Given the description of an element on the screen output the (x, y) to click on. 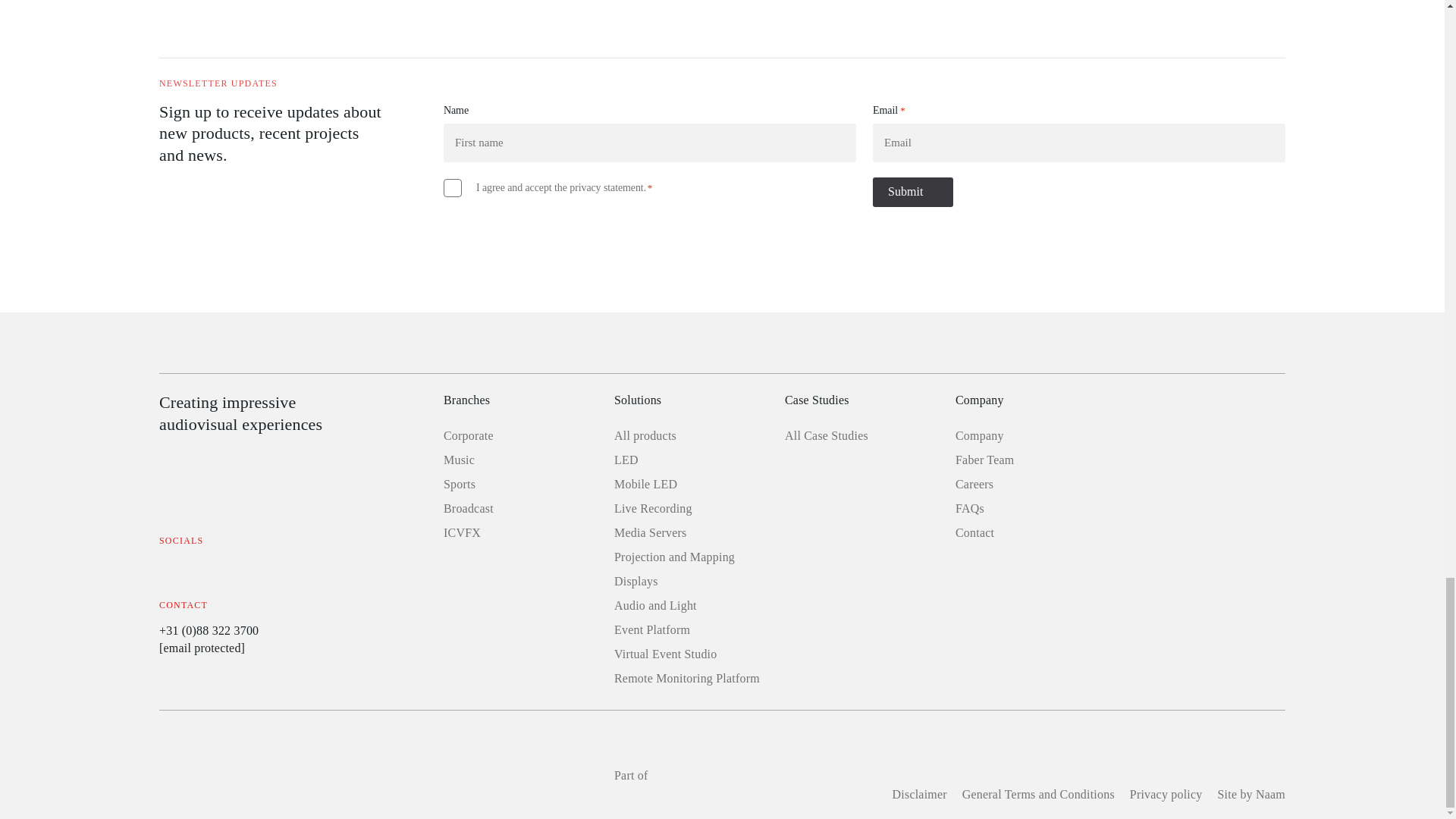
Submit (912, 192)
1 (452, 187)
